Given the description of an element on the screen output the (x, y) to click on. 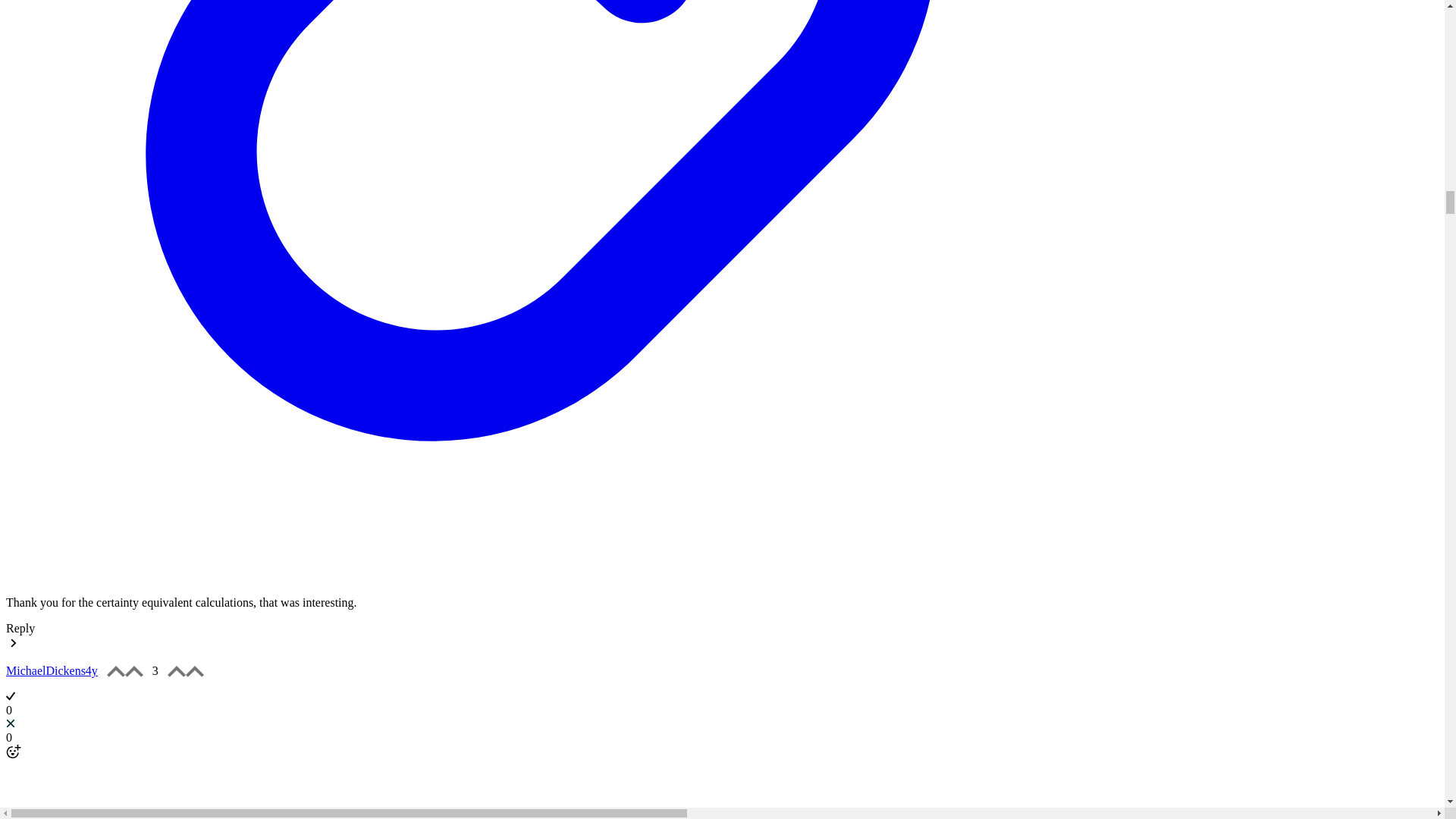
Reply (19, 627)
